Given the description of an element on the screen output the (x, y) to click on. 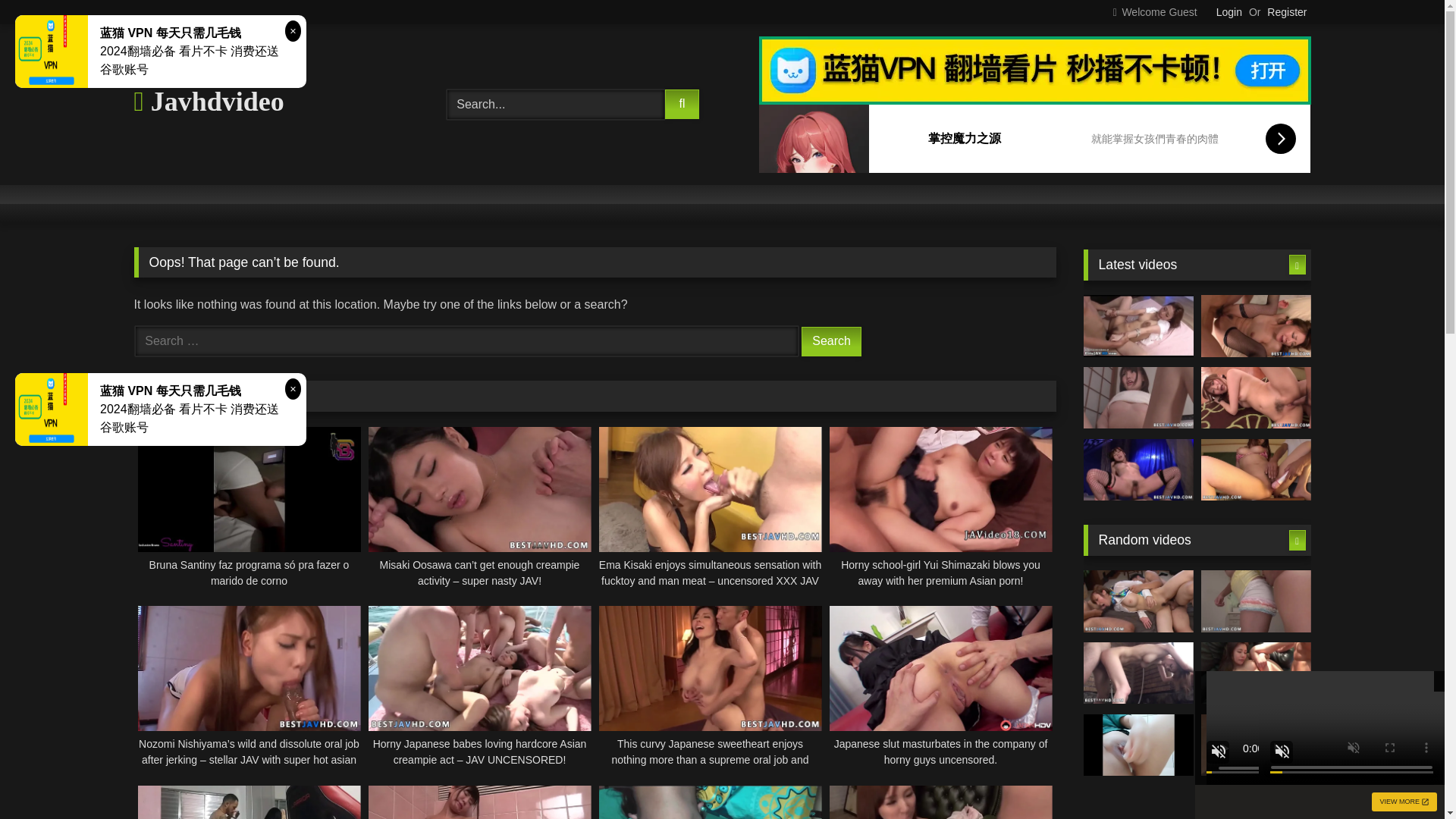
Search (831, 341)
Search (831, 341)
Latina en su primer video Porno se asusta (710, 802)
Search (831, 341)
Javhdvideo (208, 101)
Login (1228, 12)
